Given the description of an element on the screen output the (x, y) to click on. 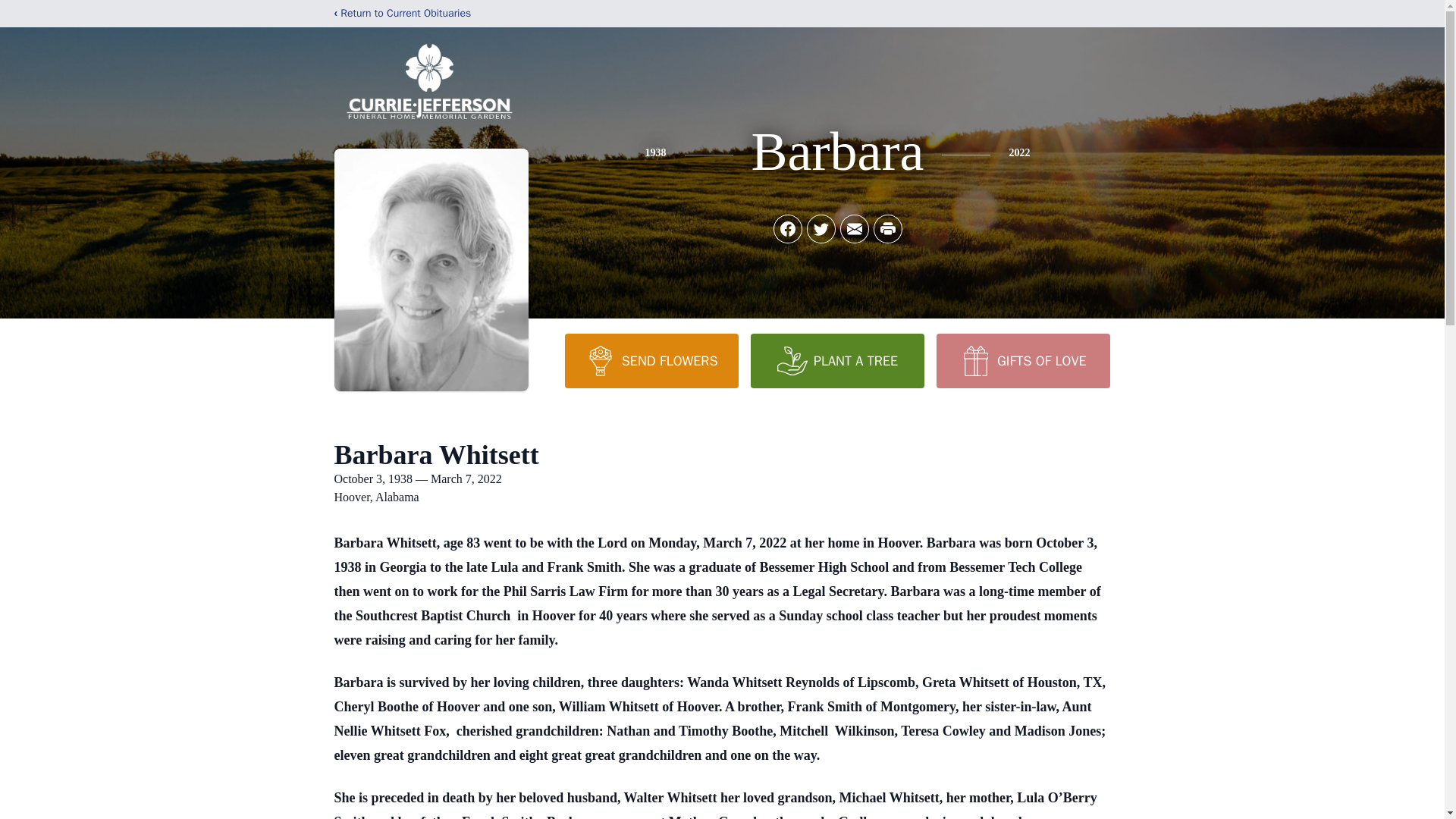
SEND FLOWERS (651, 360)
PLANT A TREE (837, 360)
GIFTS OF LOVE (1022, 360)
